Given the description of an element on the screen output the (x, y) to click on. 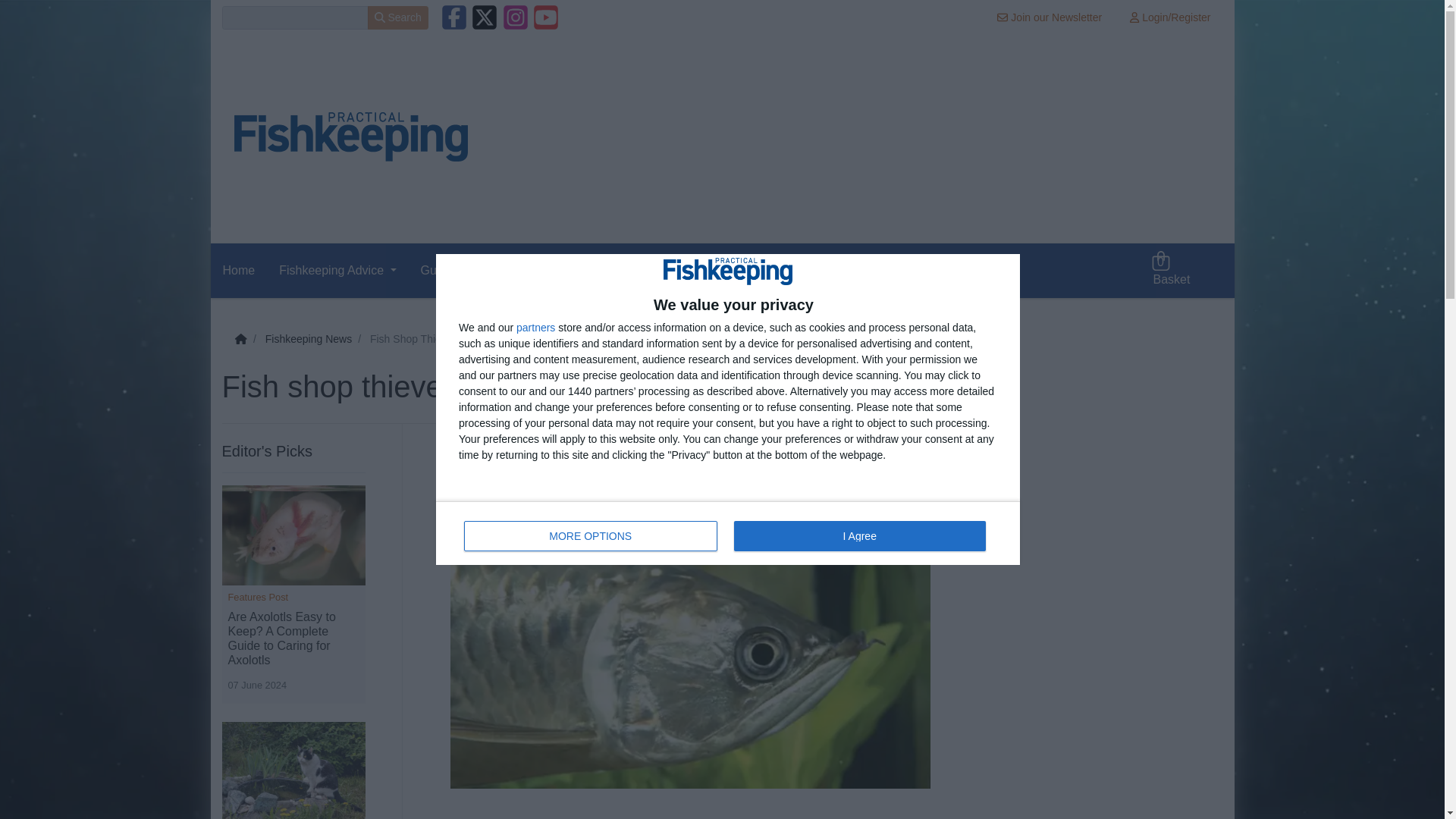
Fishkeeping Advice (336, 270)
Shop (911, 270)
Competitions (727, 533)
Search (831, 270)
Join our Newsletter (397, 17)
Subscriptions (1050, 17)
Join Our Newsletter (598, 270)
partners (718, 270)
MORE OPTIONS (535, 327)
Home (590, 535)
I Agree (244, 270)
